Given the description of an element on the screen output the (x, y) to click on. 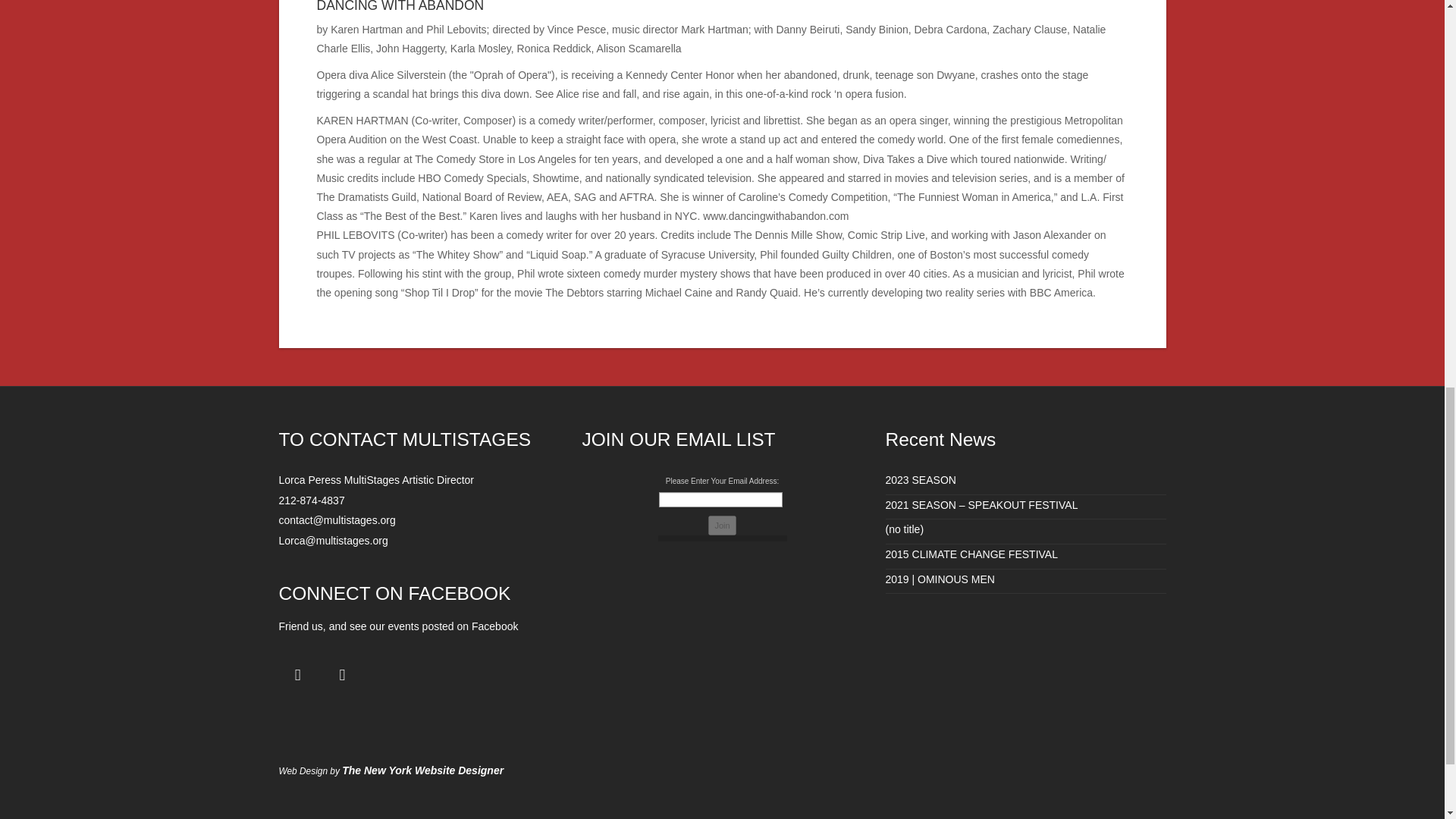
The New York Website Designer (422, 770)
2015 CLIMATE CHANGE FESTIVAL (971, 553)
Join (721, 525)
2023 SEASON (920, 480)
Join (721, 525)
